Given the description of an element on the screen output the (x, y) to click on. 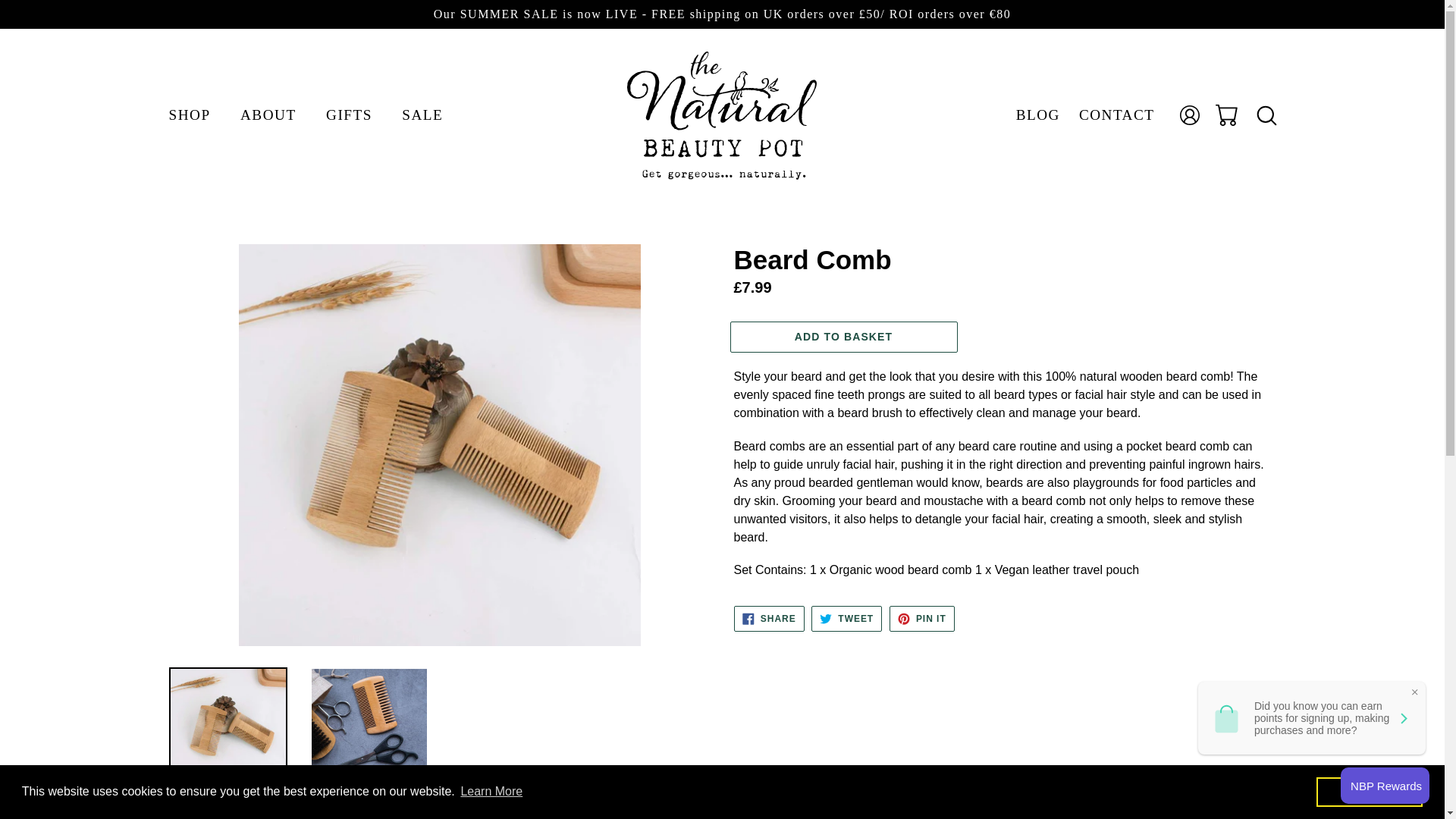
GIFTS (349, 115)
Got it! (1369, 791)
BLOG (1037, 115)
Learn More (491, 791)
Tweet on Twitter (846, 618)
SALE (846, 618)
SHOP (421, 115)
Pin on Pinterest (188, 115)
Share on Facebook (922, 618)
CONTACT (922, 618)
ABOUT (769, 618)
LoyaltyLion beacon (769, 618)
